Given the description of an element on the screen output the (x, y) to click on. 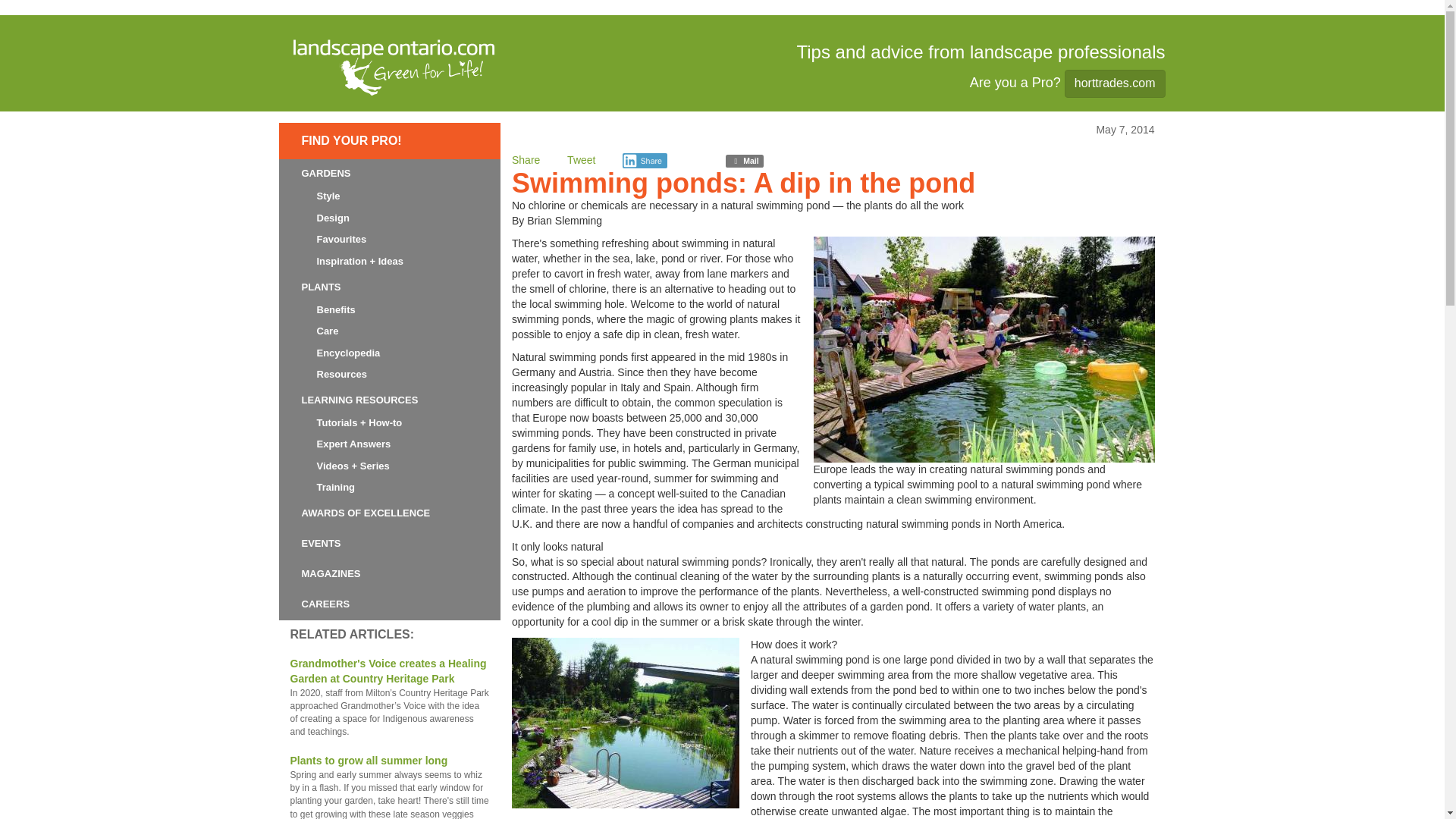
horttrades.com (1115, 83)
GARDENS (326, 172)
LEARNING RESOURCES (360, 399)
Expert Answers (353, 443)
Encyclopedia (348, 352)
Style (327, 195)
Training (335, 487)
Resources (341, 374)
PLANTS (321, 286)
Favourites (341, 239)
Benefits (335, 309)
Care (327, 330)
FIND YOUR PRO! (351, 140)
Design (332, 217)
